Given the description of an element on the screen output the (x, y) to click on. 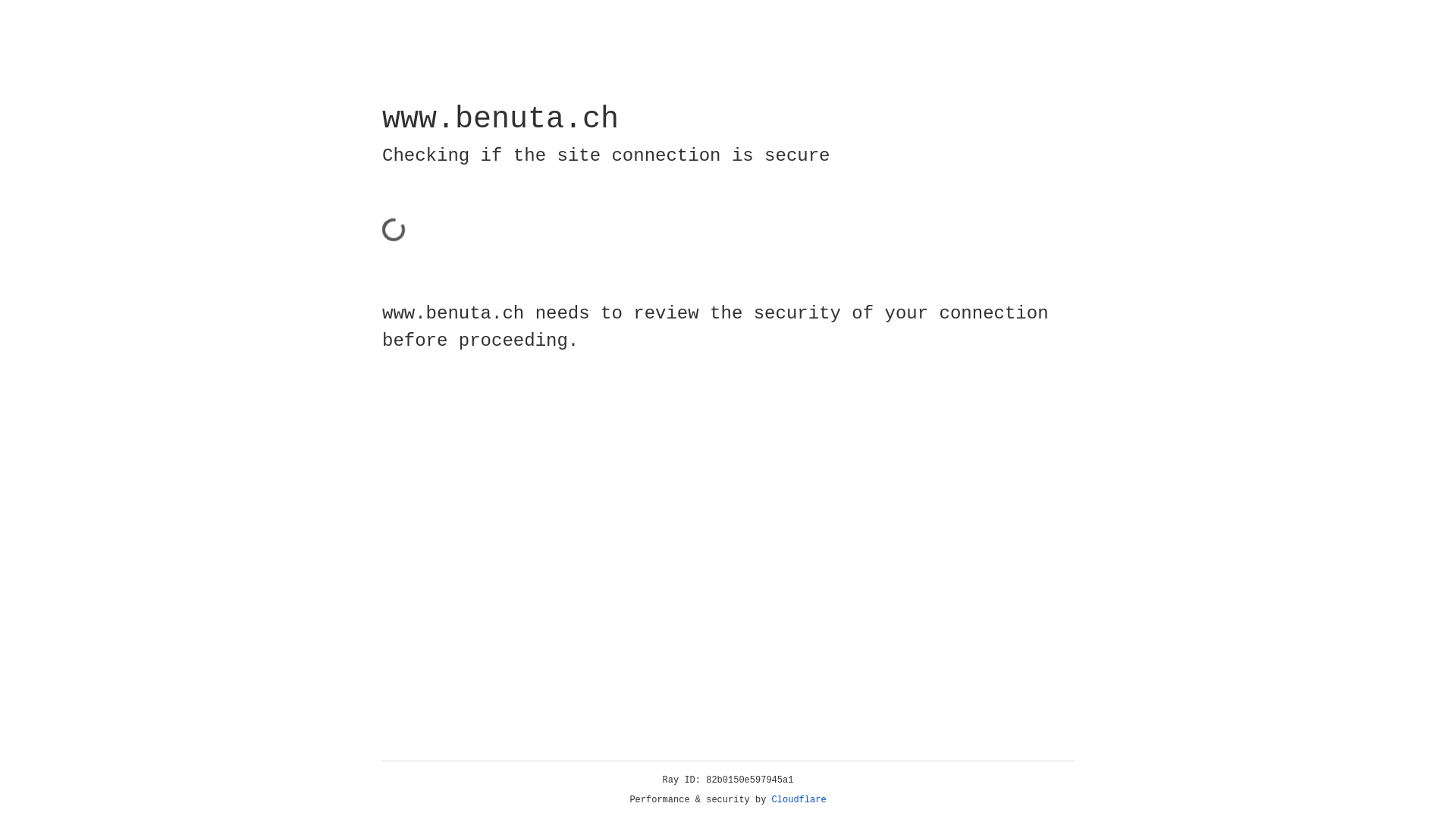
Cloudflare Element type: text (798, 799)
